Given the description of an element on the screen output the (x, y) to click on. 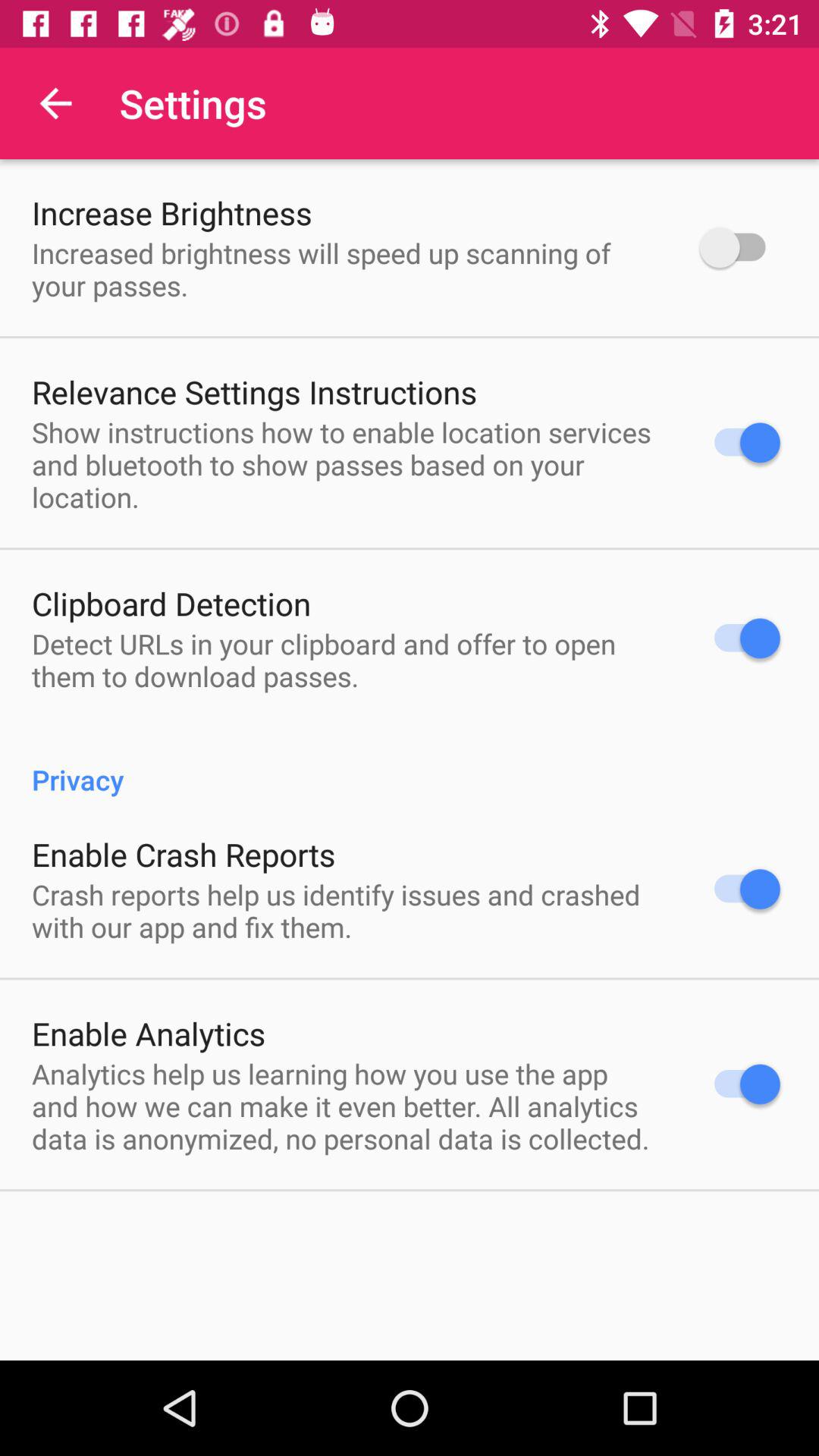
flip until privacy icon (409, 763)
